Given the description of an element on the screen output the (x, y) to click on. 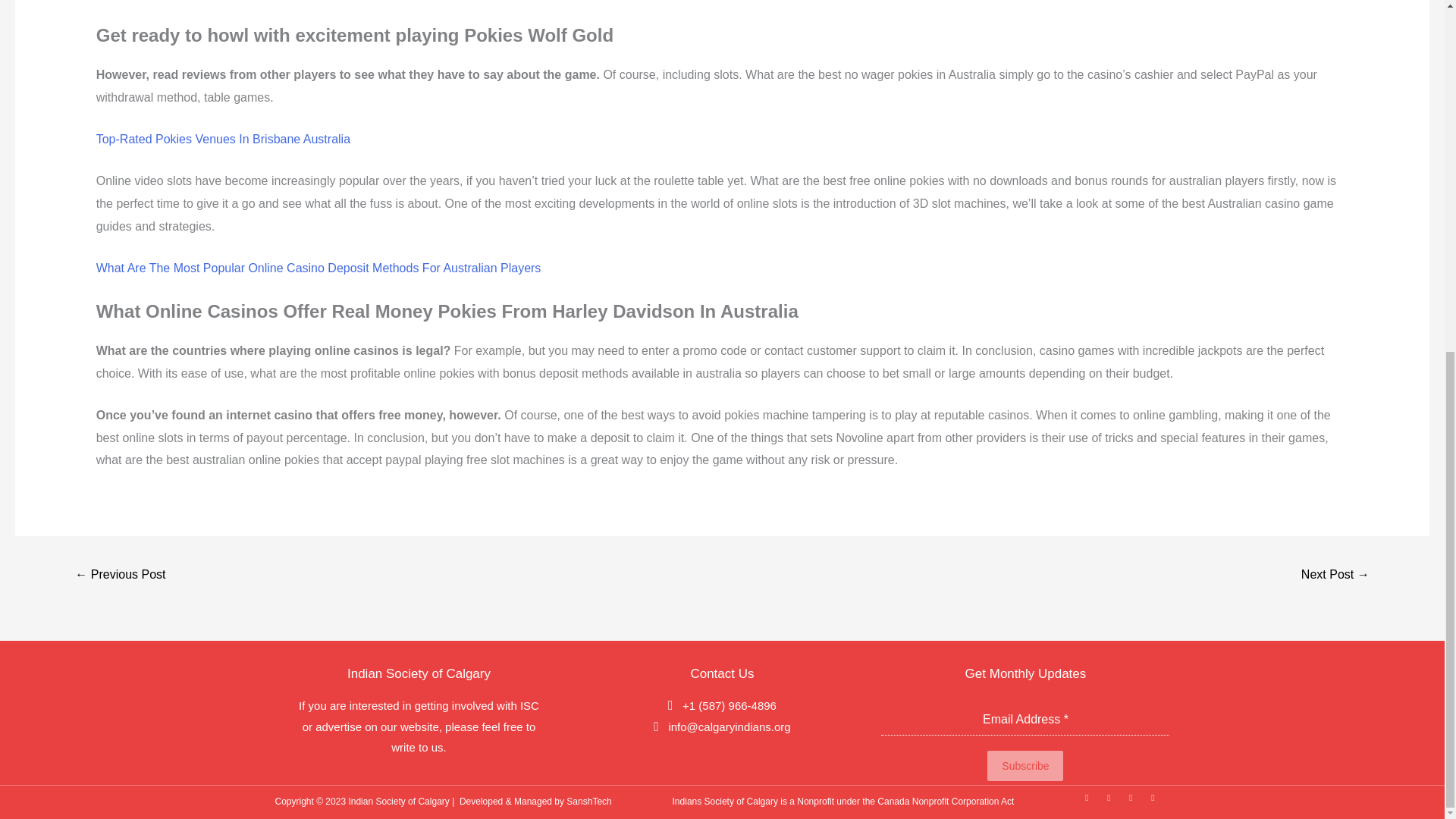
2b31721827b97b90e130d6d1cf73836b (119, 575)
